Given the description of an element on the screen output the (x, y) to click on. 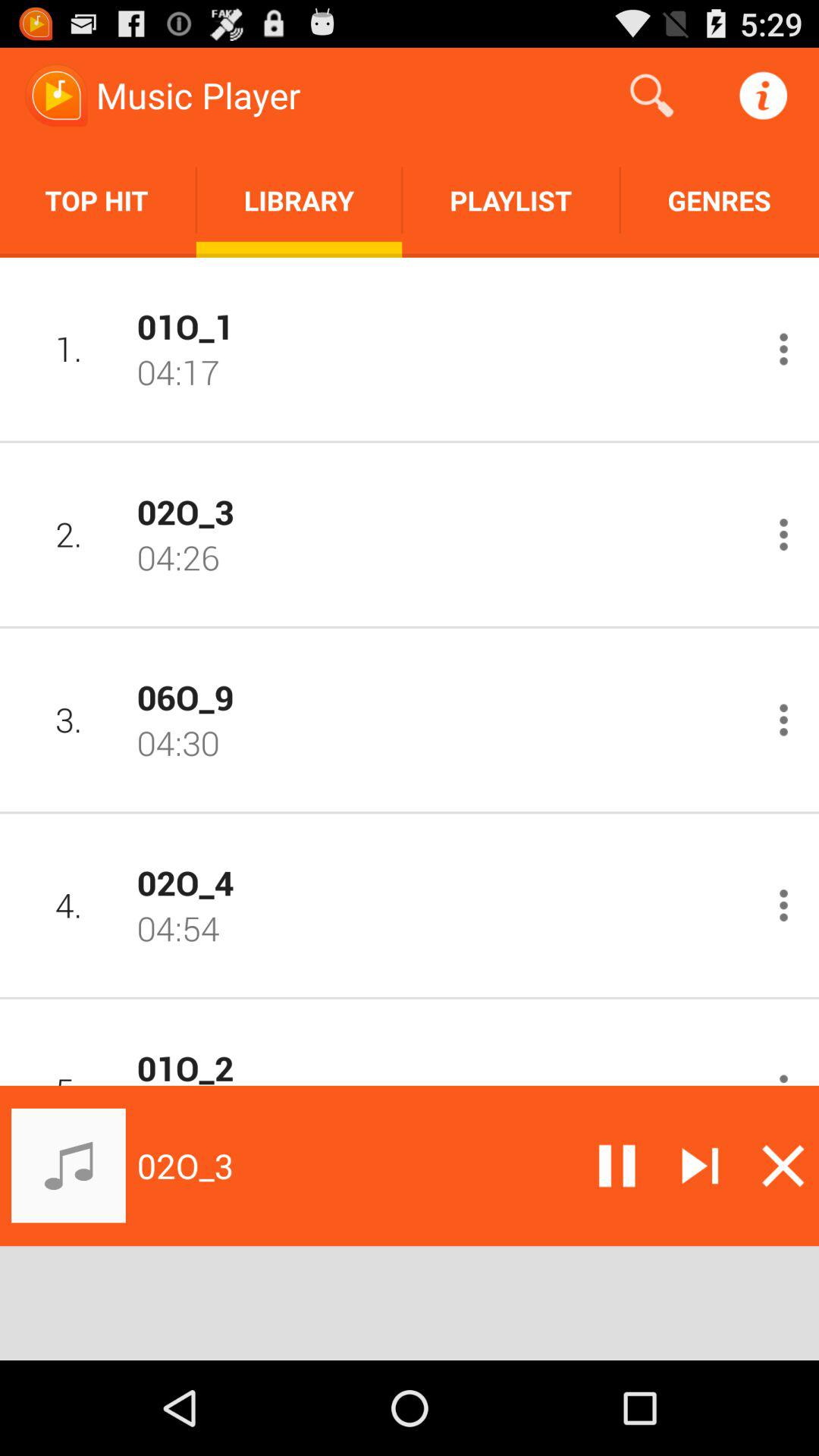
jump until top hit item (98, 200)
